Given the description of an element on the screen output the (x, y) to click on. 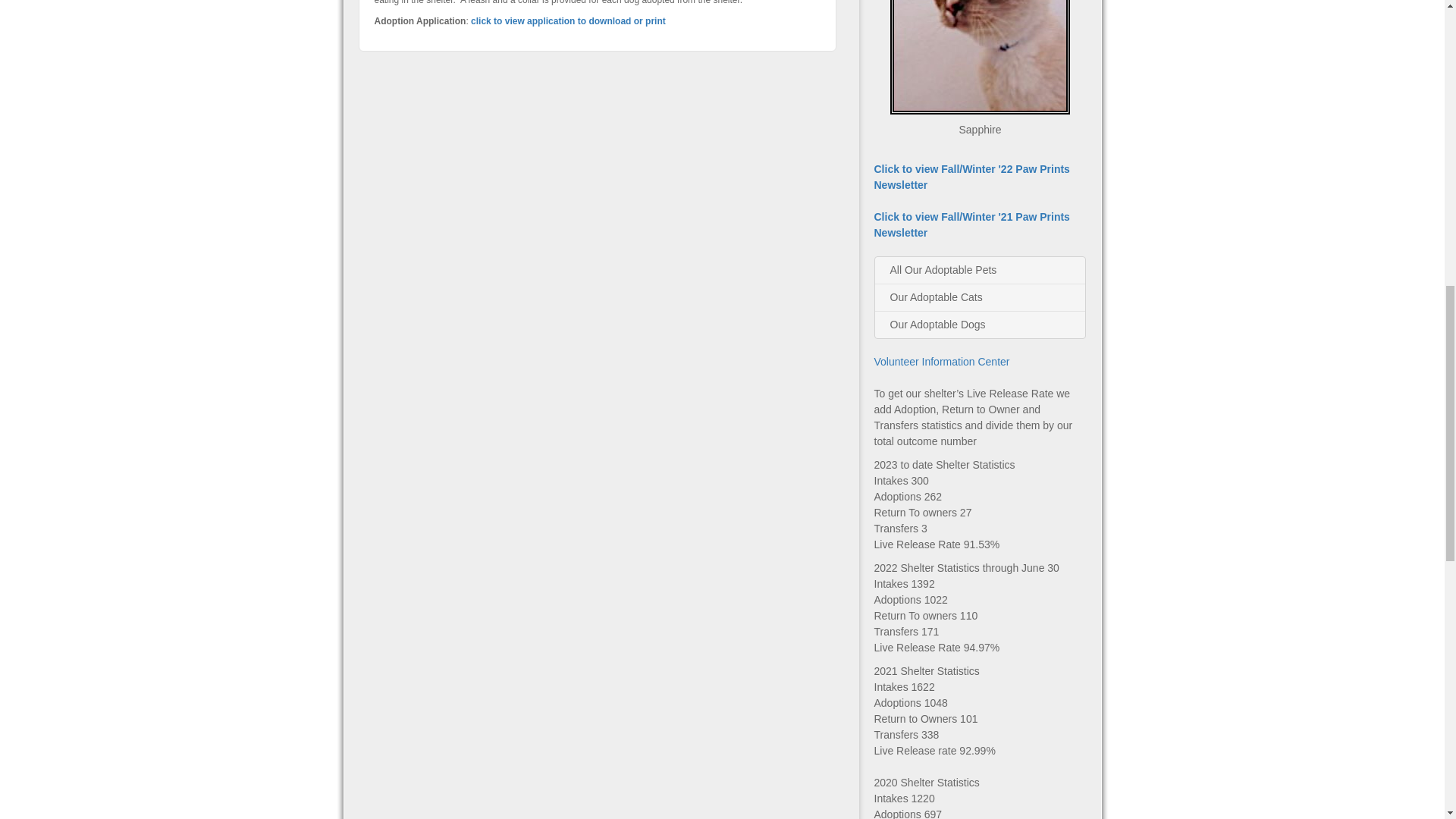
Our Adoptable Cats (980, 297)
Volunteer Information Center (941, 361)
Our Adoptable Dogs (980, 325)
All Our Adoptable Pets (980, 270)
click to view application to download or print (567, 20)
